Given the description of an element on the screen output the (x, y) to click on. 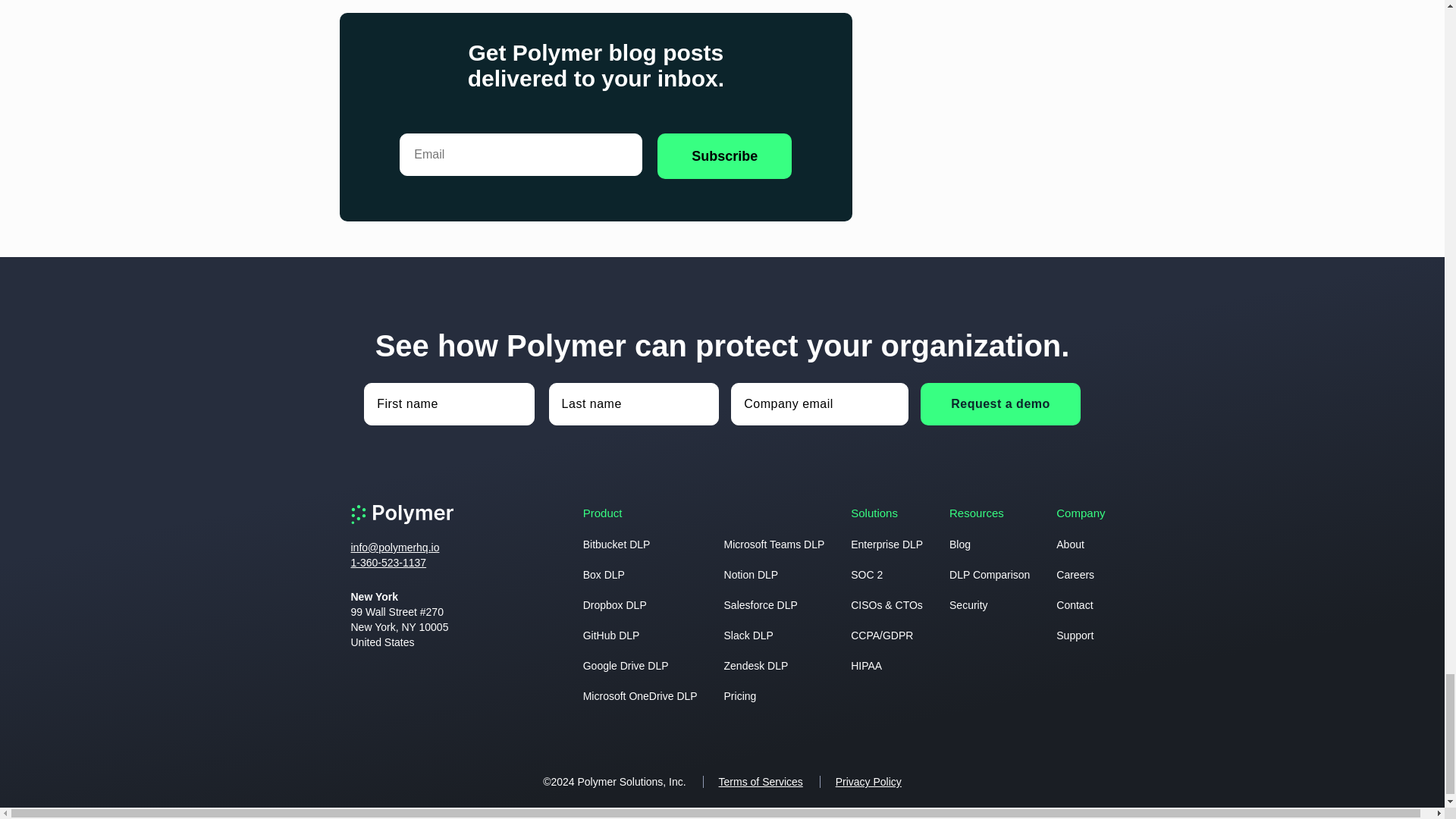
Subscribe (725, 156)
Request a demo (1000, 404)
